Given the description of an element on the screen output the (x, y) to click on. 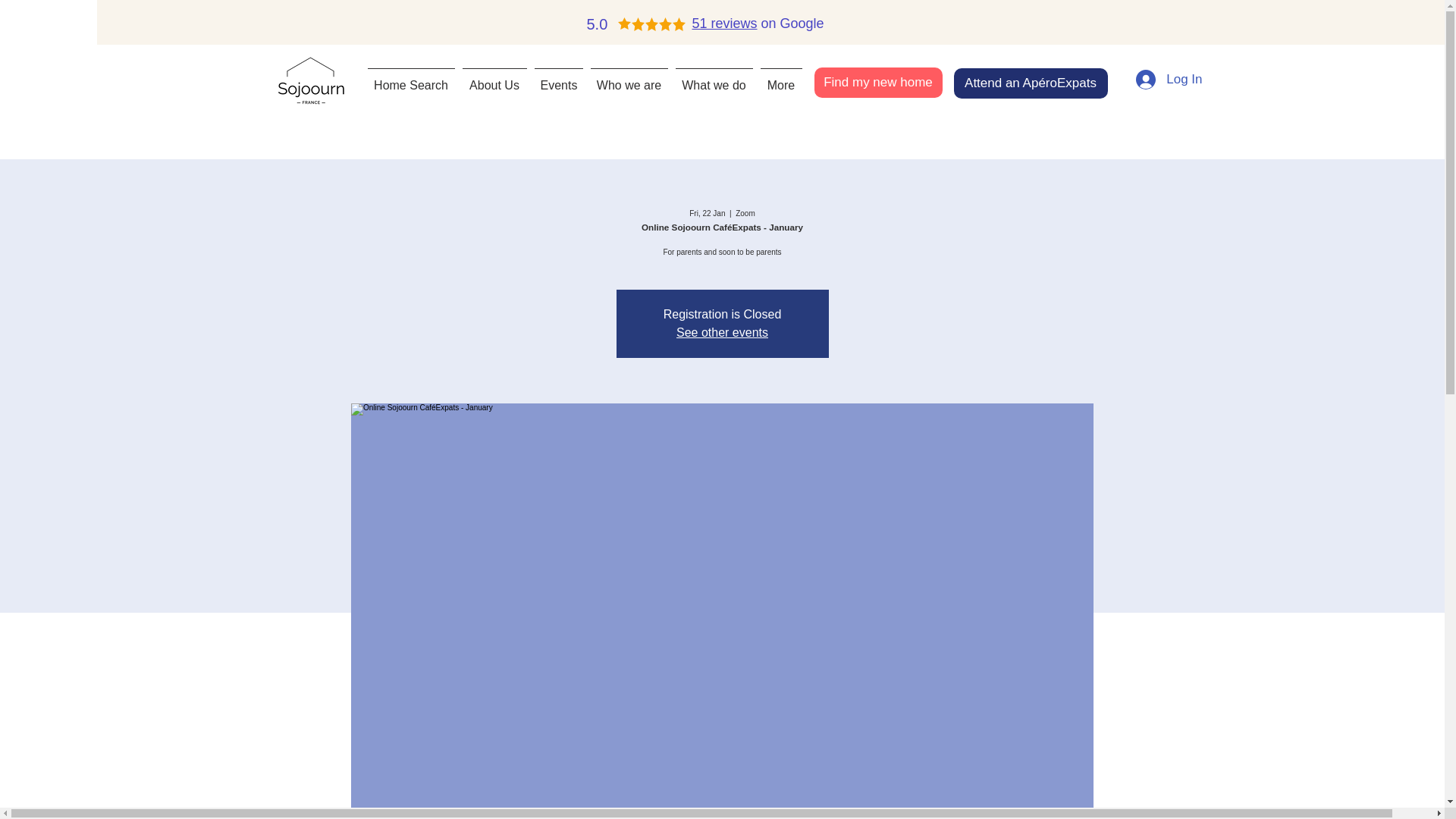
5.0  (598, 23)
Home Search (411, 78)
Find my new home (877, 82)
Log In (1168, 79)
Who we are (628, 78)
Events (558, 78)
See other events (722, 332)
About Us (493, 78)
51 reviews (724, 23)
What we do (714, 78)
